Given the description of an element on the screen output the (x, y) to click on. 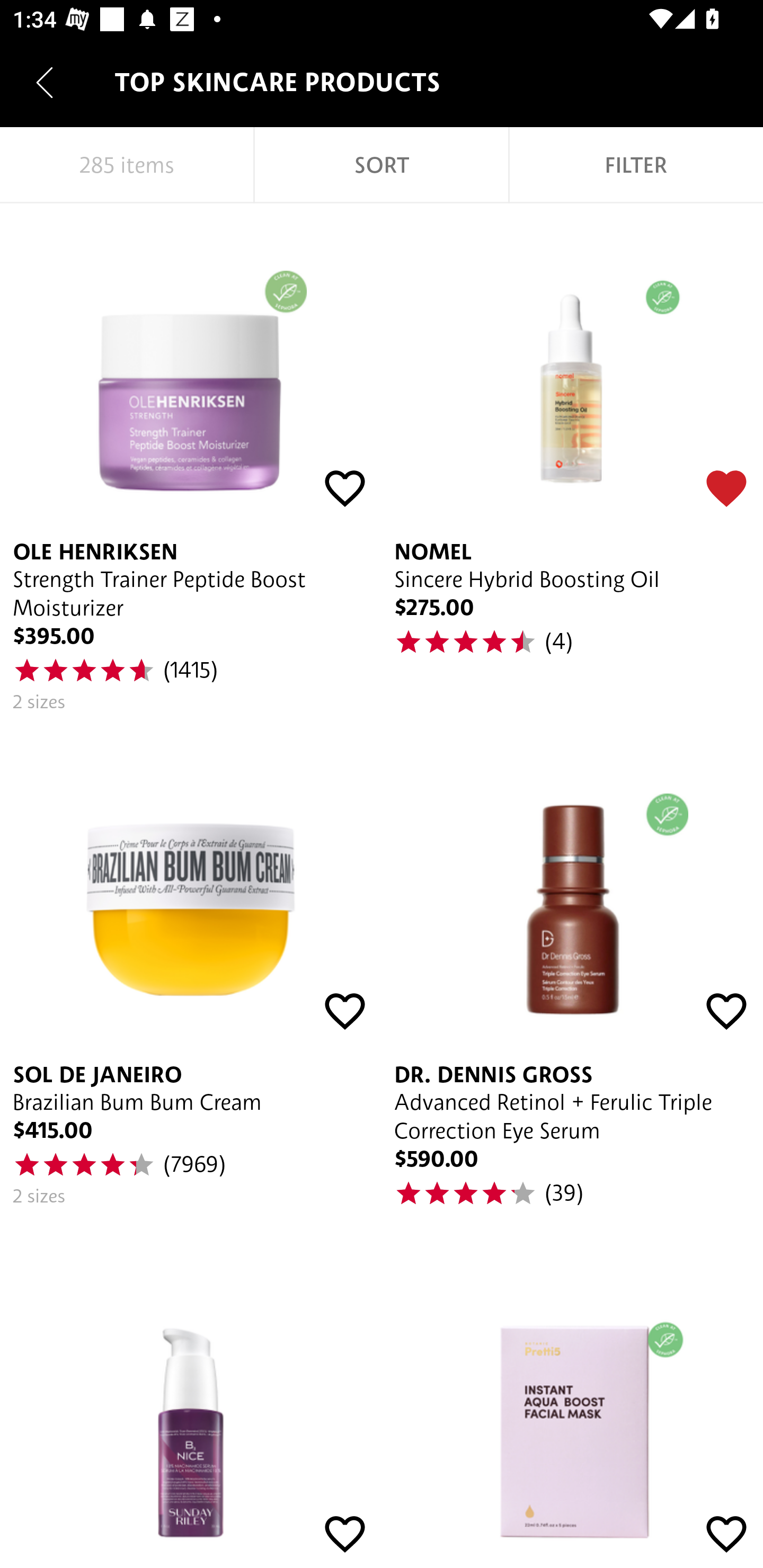
Navigate up (44, 82)
SORT (381, 165)
FILTER (636, 165)
NOMEL Sincere Hybrid Boosting Oil $275.00 45.0 (4) (572, 464)
